Given the description of an element on the screen output the (x, y) to click on. 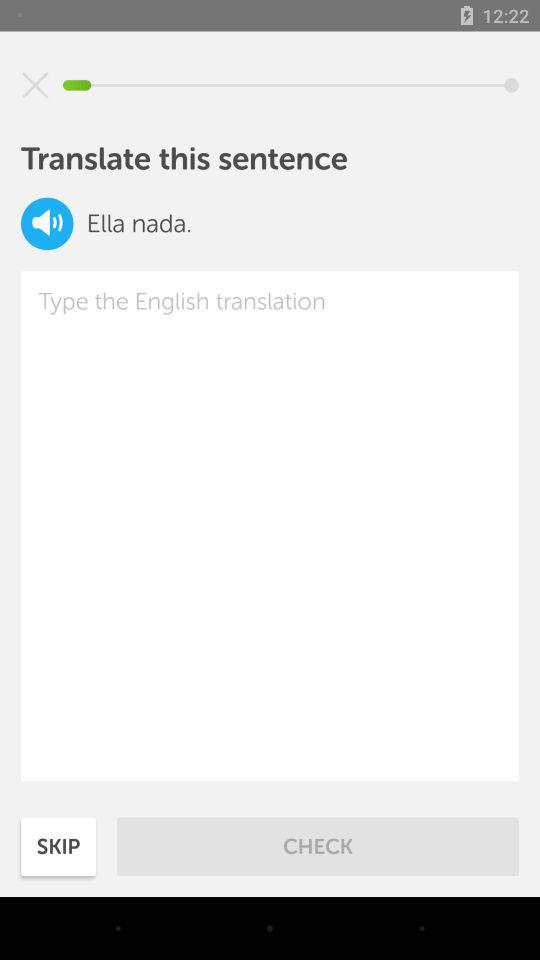
write text (270, 526)
